Given the description of an element on the screen output the (x, y) to click on. 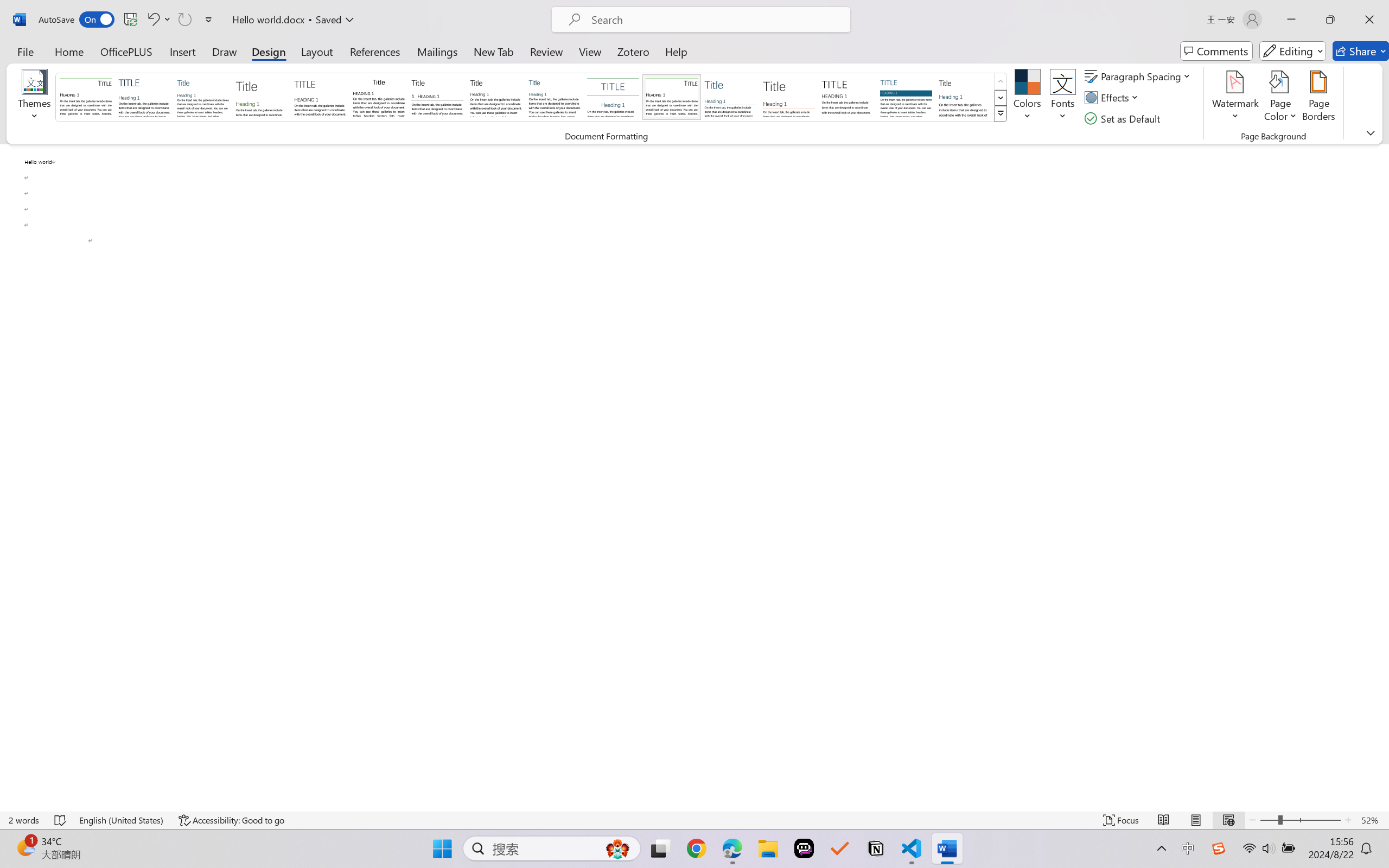
Print Layout (1196, 819)
Basic (Simple) (202, 96)
Minimize (1291, 19)
Centered (612, 96)
Casual (554, 96)
Web Layout (1228, 819)
Spelling and Grammar Check No Errors (60, 819)
File Tab (24, 51)
Editing (1292, 50)
AutomationID: DynamicSearchBoxGleamImage (617, 848)
Focus  (1121, 819)
Read Mode (1163, 819)
Zoom Out (1268, 819)
Minimalist (847, 96)
